Given the description of an element on the screen output the (x, y) to click on. 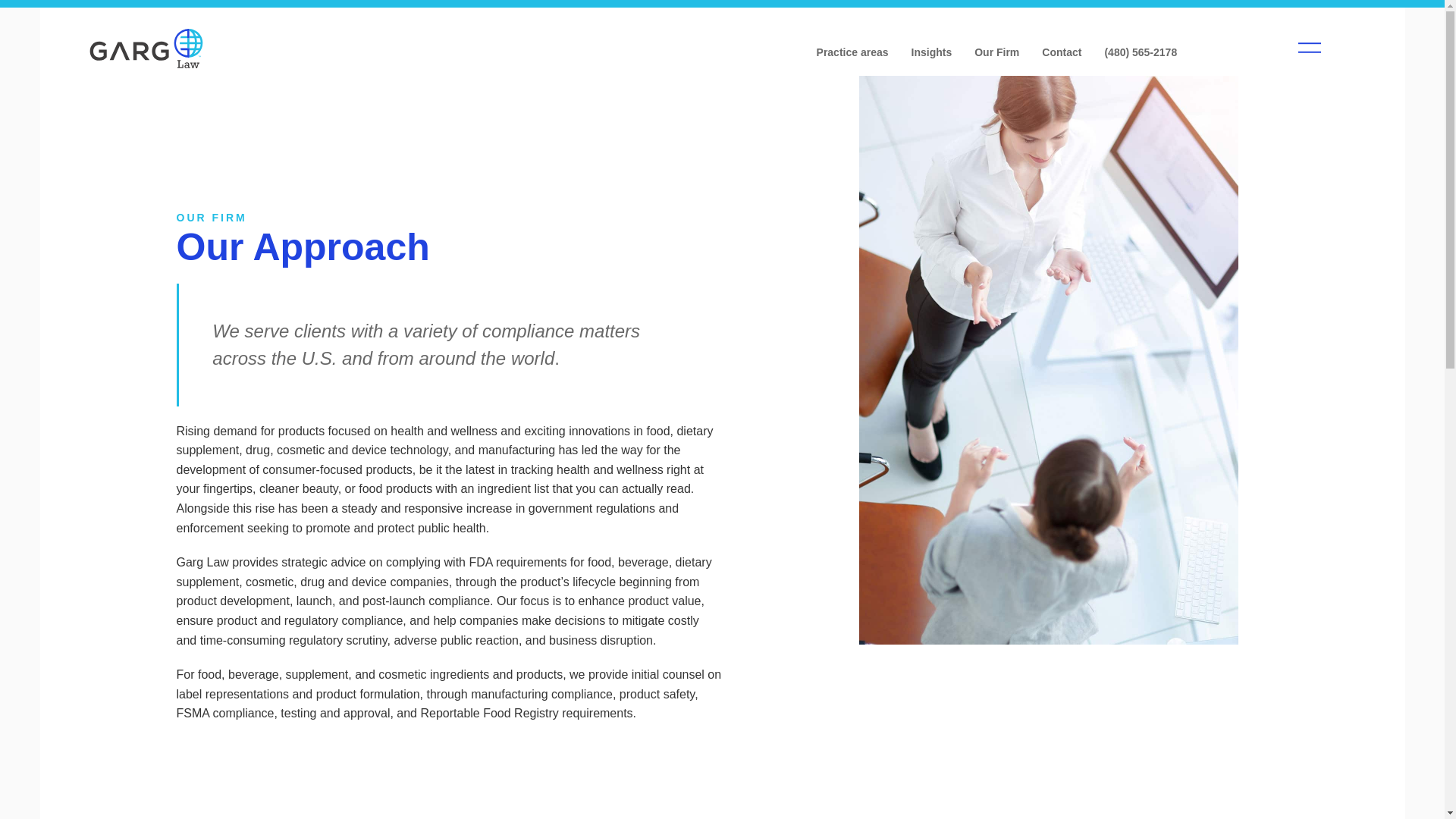
Insights (931, 51)
Our Firm (996, 51)
Contact (1061, 51)
Practice areas (852, 51)
